Given the description of an element on the screen output the (x, y) to click on. 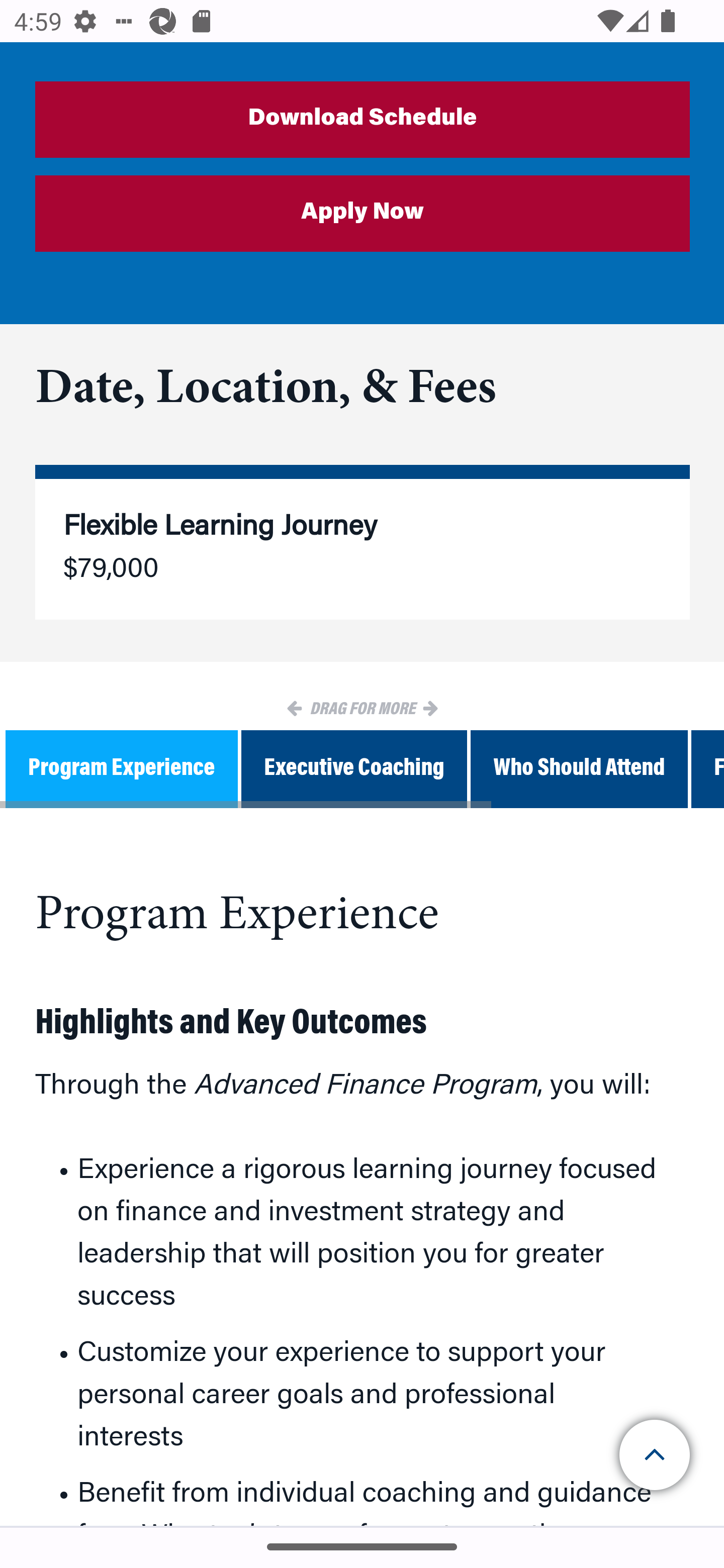
Download Schedule (363, 120)
Apply Now (363, 214)
Program Experience (121, 771)
Executive Coaching (353, 771)
Who Should Attend (578, 771)
 (655, 1455)
